Given the description of an element on the screen output the (x, y) to click on. 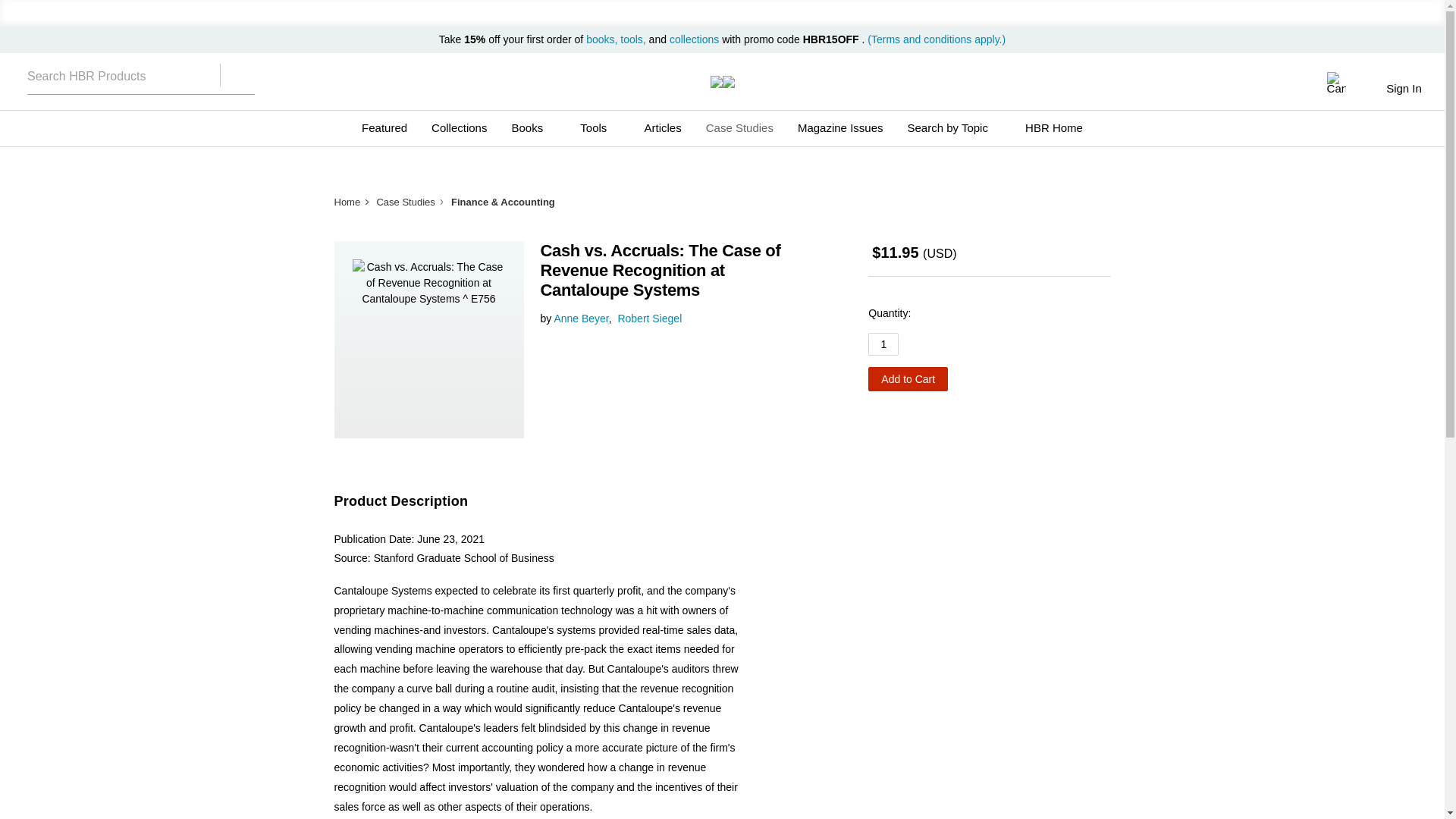
Tools (599, 127)
1 (882, 343)
collections (694, 39)
HBR.ORG - Prod (716, 81)
Books (533, 127)
tools, (632, 39)
books, (603, 39)
Add to Cart (907, 378)
Featured (384, 127)
Collections (459, 127)
